Given the description of an element on the screen output the (x, y) to click on. 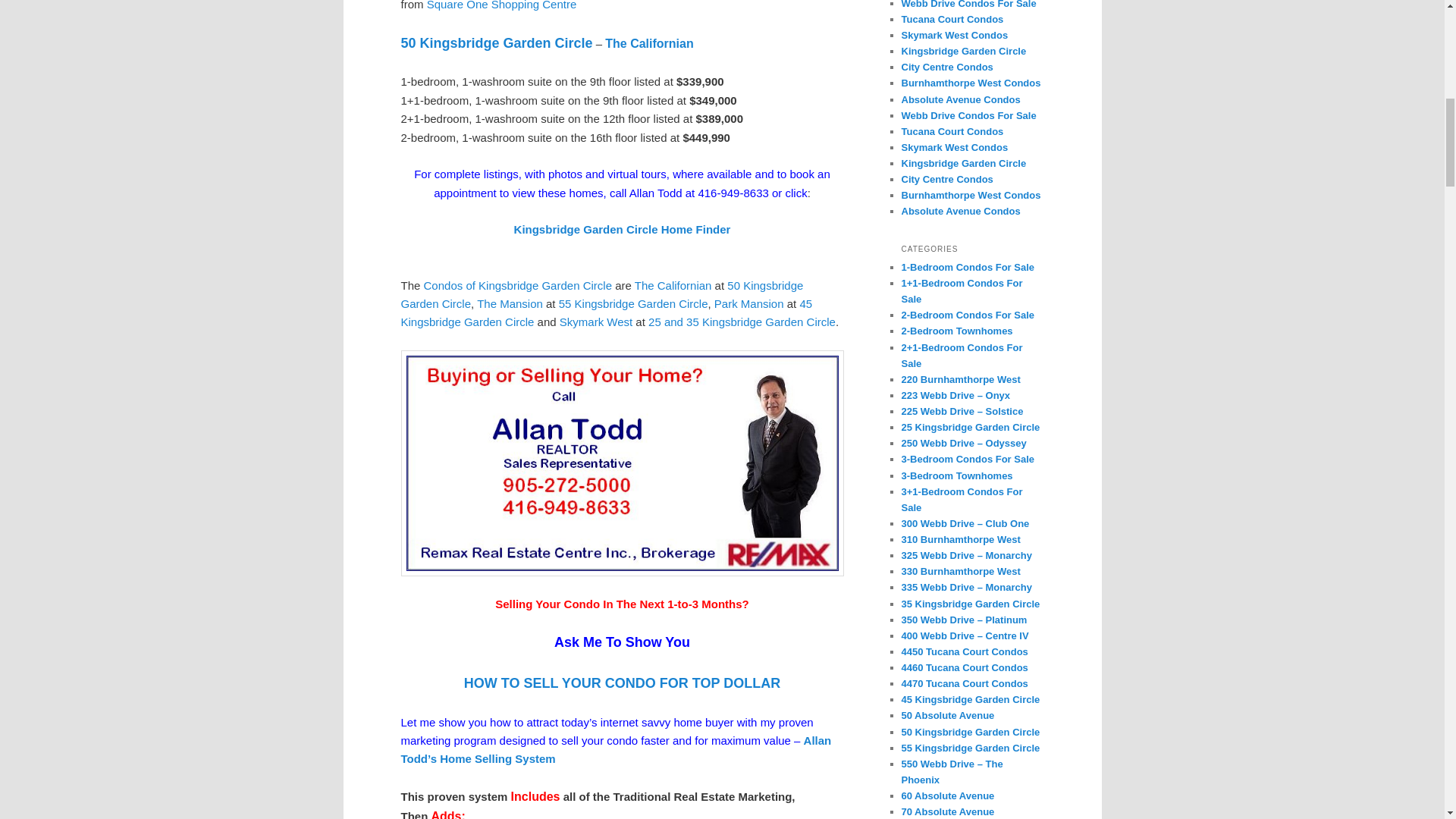
Square One Shopping Centre (501, 5)
55 Kingsbridge Garden Circle (633, 303)
50 Kingsbridge Garden Circle (497, 42)
50 Kingsbridge Garden Circle (601, 294)
The Californian (672, 285)
Condos of Kingsbridge Garden Circle (517, 285)
Kingsbridge Garden Circle Home Finder (621, 228)
The Californian (649, 42)
The Mansion (510, 303)
